Given the description of an element on the screen output the (x, y) to click on. 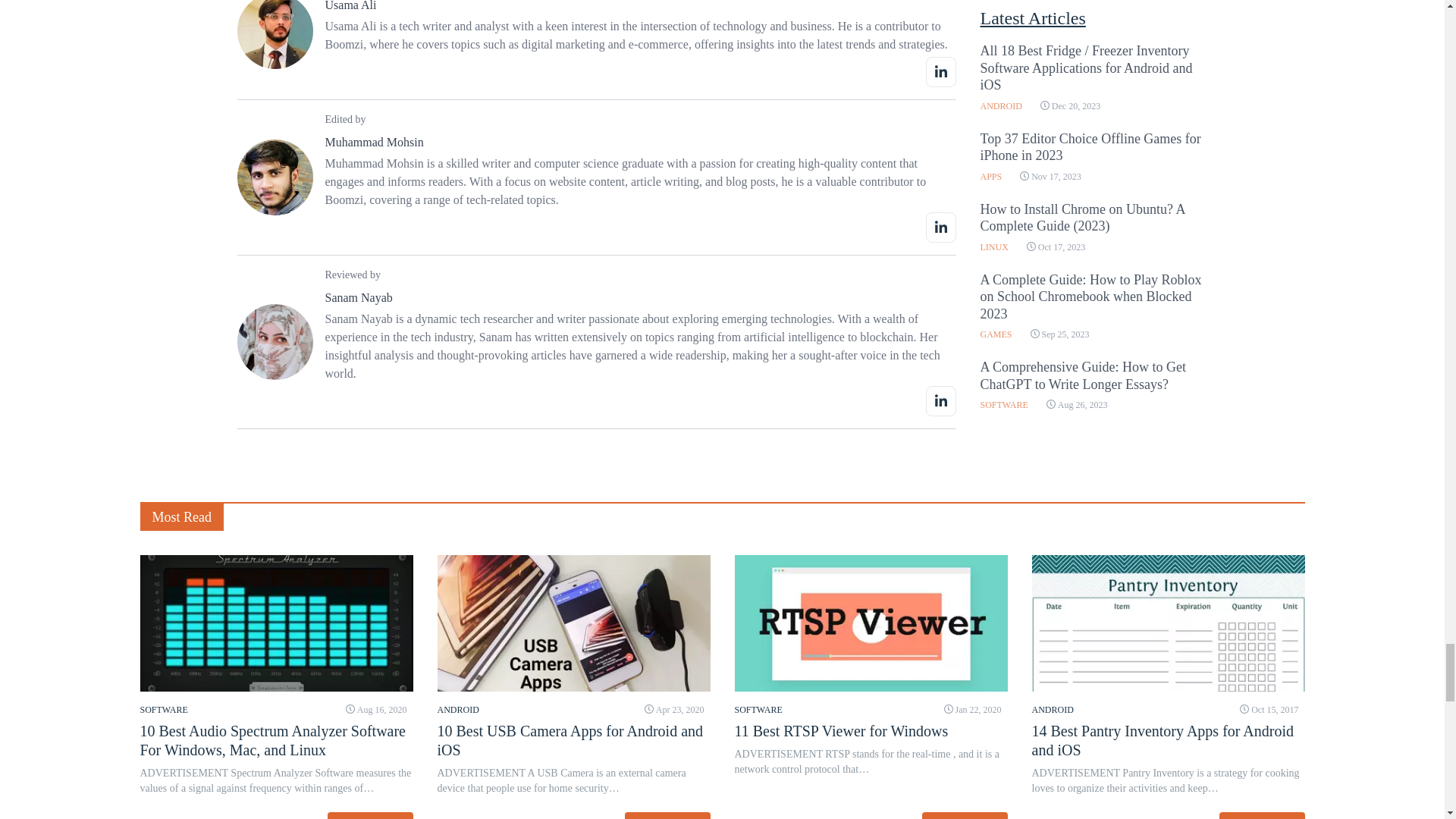
Usama Ali (349, 5)
Muhammad Mohsin (373, 141)
